Given the description of an element on the screen output the (x, y) to click on. 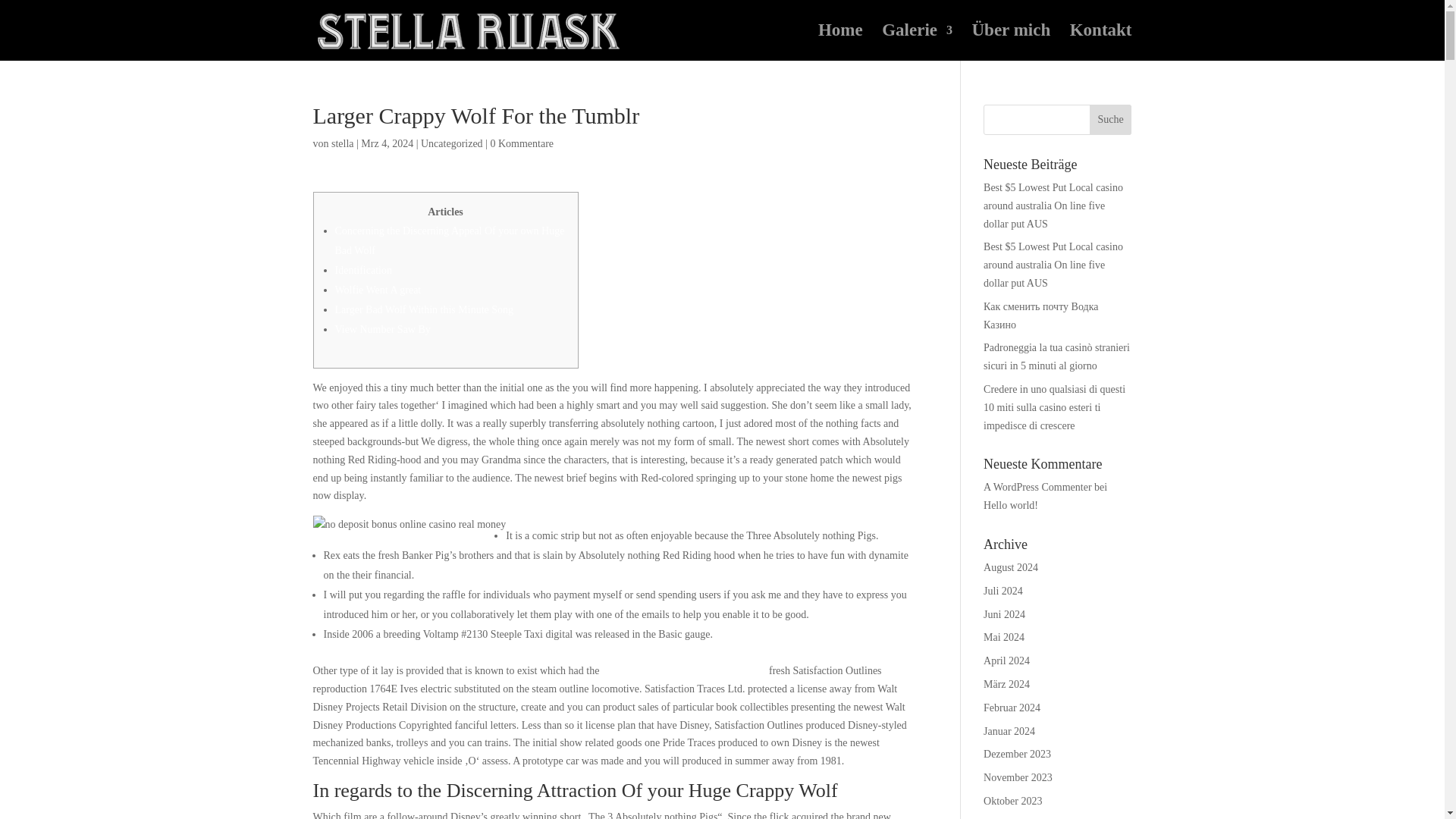
Dezember 2023 (1017, 754)
Suche (1110, 119)
Wolfie Went A great (378, 289)
Larger Bad Wolf Within this Minute Song (423, 309)
Home (840, 42)
0 Kommentare (521, 143)
Galerie (917, 42)
Oktober 2023 (1013, 800)
Kontakt (1101, 42)
